Given the description of an element on the screen output the (x, y) to click on. 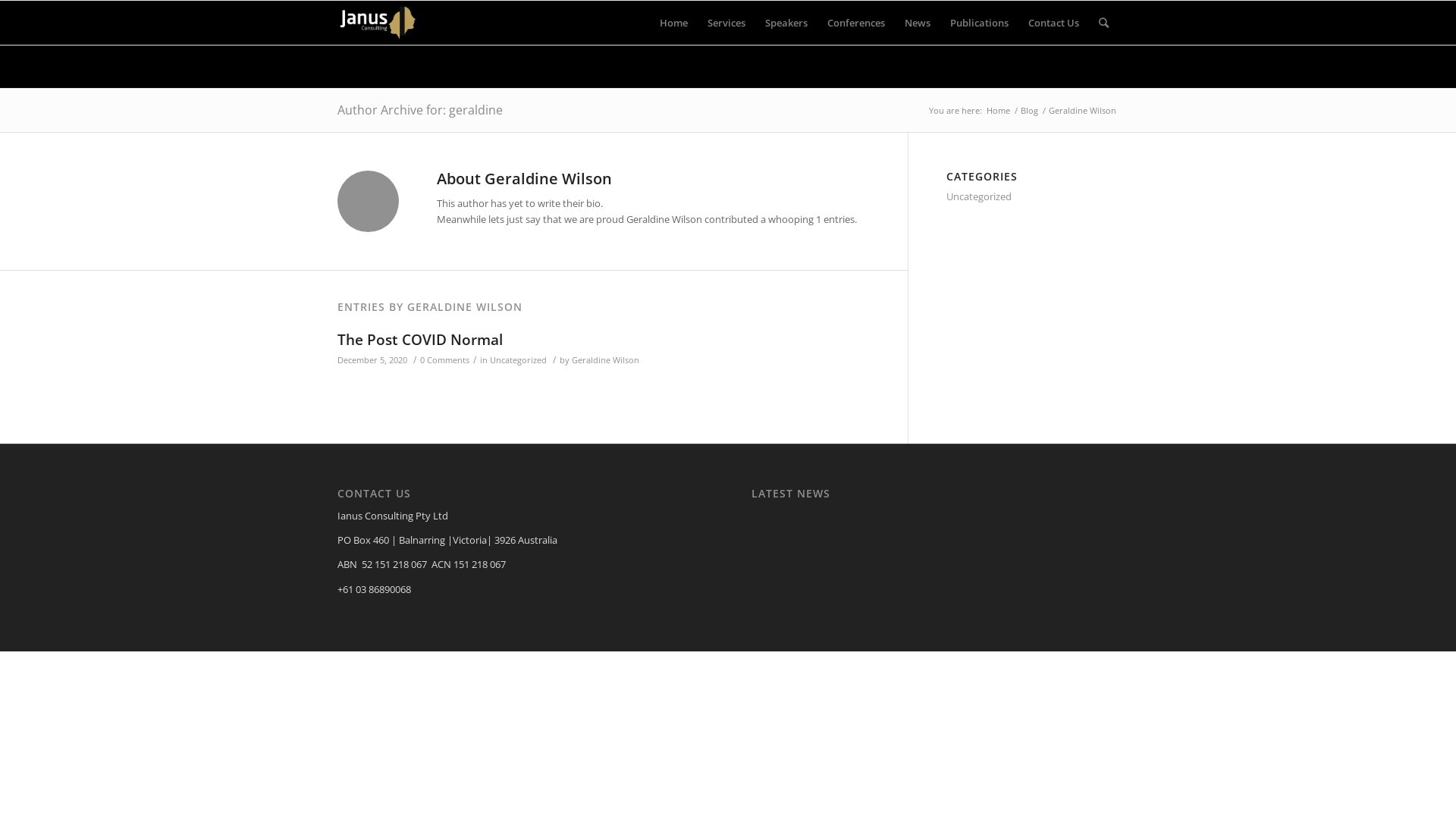
Home Element type: text (998, 110)
News Element type: text (917, 22)
Home Element type: text (673, 22)
Uncategorized Element type: text (517, 359)
Geraldine Wilson Element type: text (605, 359)
Uncategorized Element type: text (978, 196)
Services Element type: text (726, 22)
The Post COVID Normal Element type: text (419, 339)
Conferences Element type: text (855, 22)
Contact Us Element type: text (1053, 22)
0 Comments Element type: text (444, 359)
Speakers Element type: text (786, 22)
Publications Element type: text (979, 22)
Blog Element type: text (1029, 110)
